Given the description of an element on the screen output the (x, y) to click on. 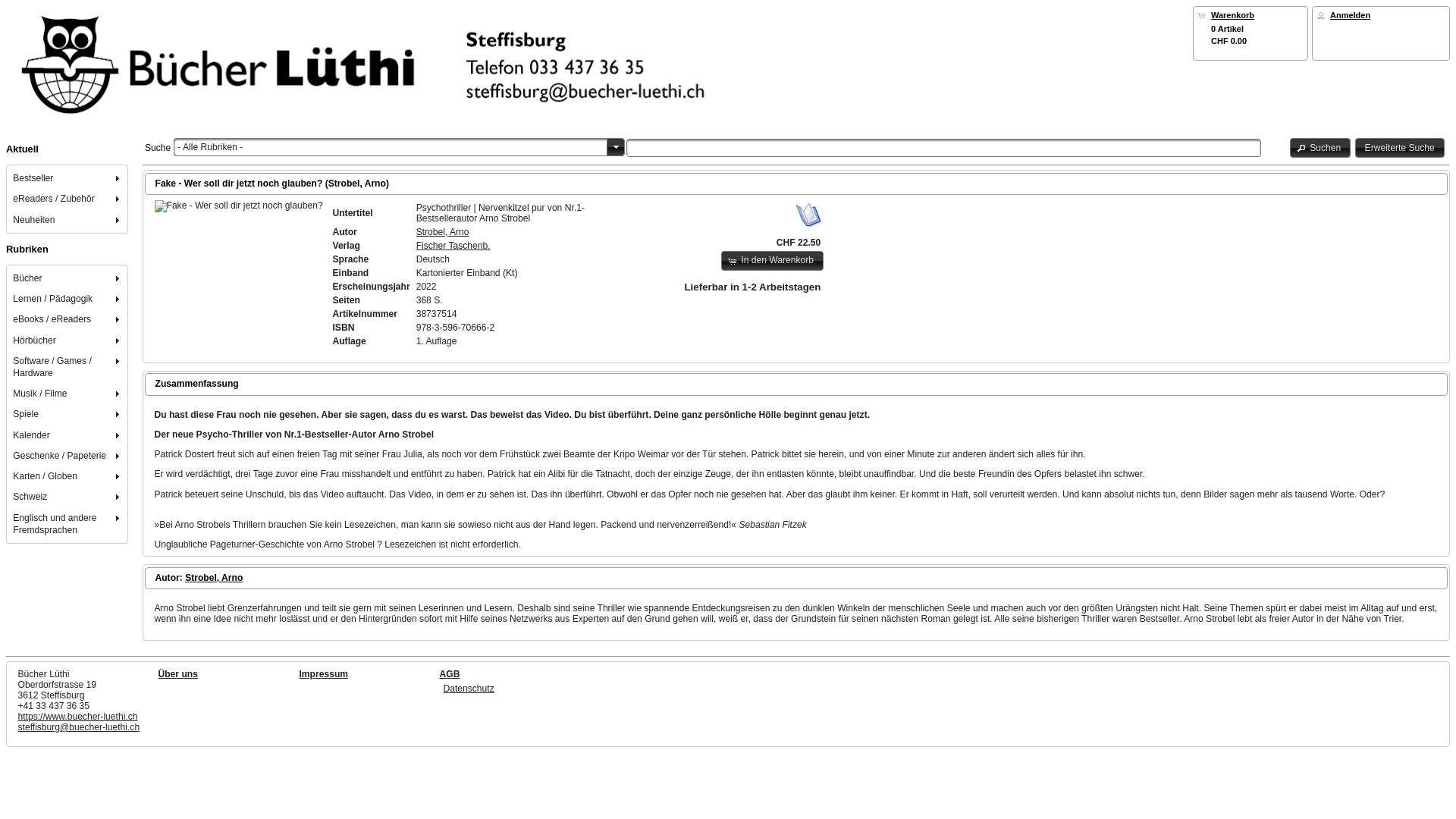
Impressum Element type: text (323, 673)
steffisburg@buecher-luethi.ch Element type: text (79, 726)
Strobel, Arno Element type: text (442, 231)
Fischer Taschenb. Element type: text (453, 245)
In den Warenkorb Element type: text (772, 260)
Kalender Element type: text (67, 434)
https://www.buecher-luethi.ch Element type: text (78, 716)
Schweiz Element type: text (67, 496)
AGB Element type: text (449, 673)
Software / Games / Hardware Element type: text (67, 366)
Datenschutz Element type: text (467, 688)
Karten / Globen Element type: text (67, 476)
Suchen Element type: text (1320, 147)
Anmelden Element type: text (1350, 14)
Buch Element type: hover (238, 206)
eBooks / eReaders Element type: text (67, 319)
Neuheiten Element type: text (67, 219)
Buch Element type: hover (808, 214)
Erweiterte Suche Element type: text (1399, 147)
Strobel, Arno Element type: text (213, 577)
Warenkorb
0 Artikel
CHF 0.00 Element type: text (1250, 26)
Geschenke / Papeterie Element type: text (67, 454)
Englisch und andere Fremdsprachen Element type: text (67, 523)
Musik / Filme Element type: text (67, 393)
Spiele Element type: text (67, 413)
Bestseller Element type: text (67, 178)
